Given the description of an element on the screen output the (x, y) to click on. 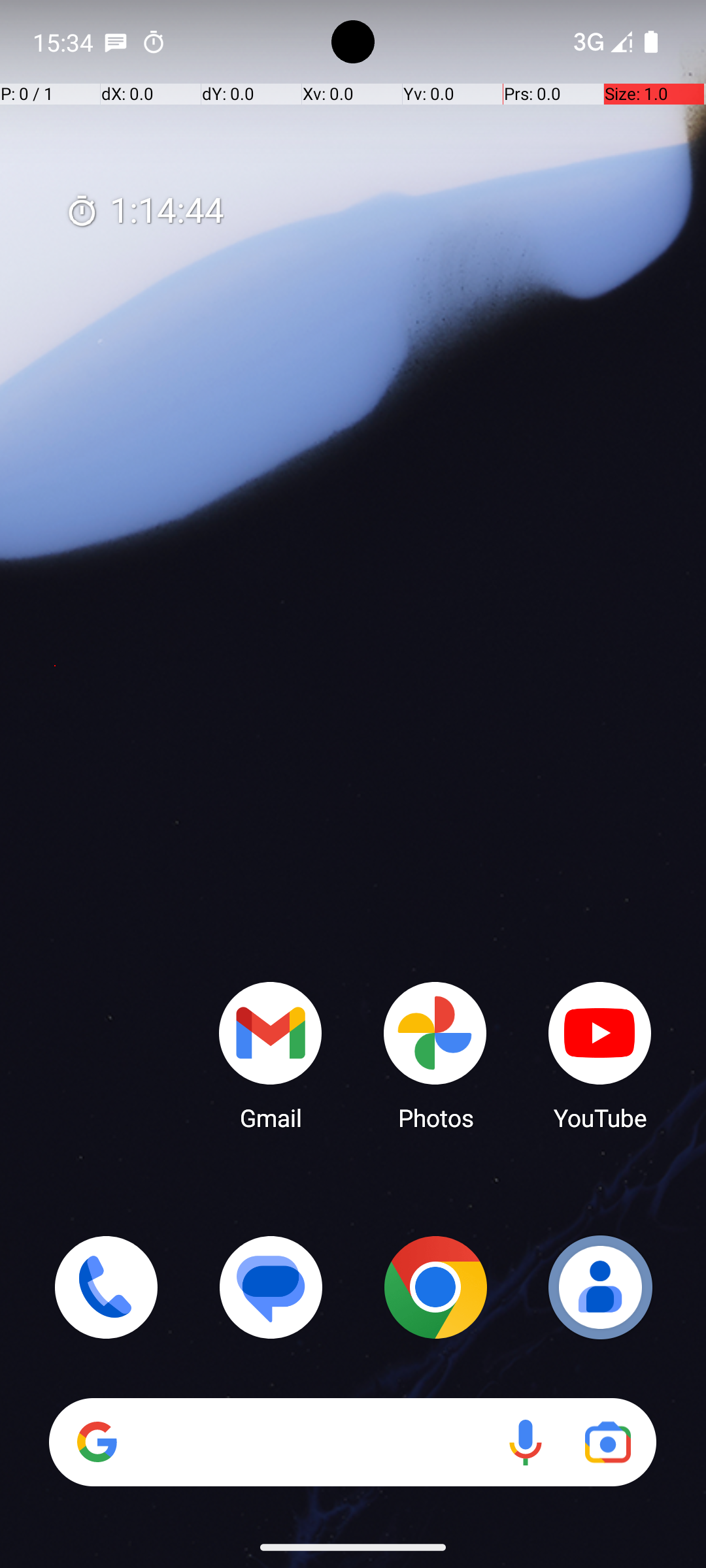
1:14:44 Element type: android.widget.TextView (144, 210)
